Given the description of an element on the screen output the (x, y) to click on. 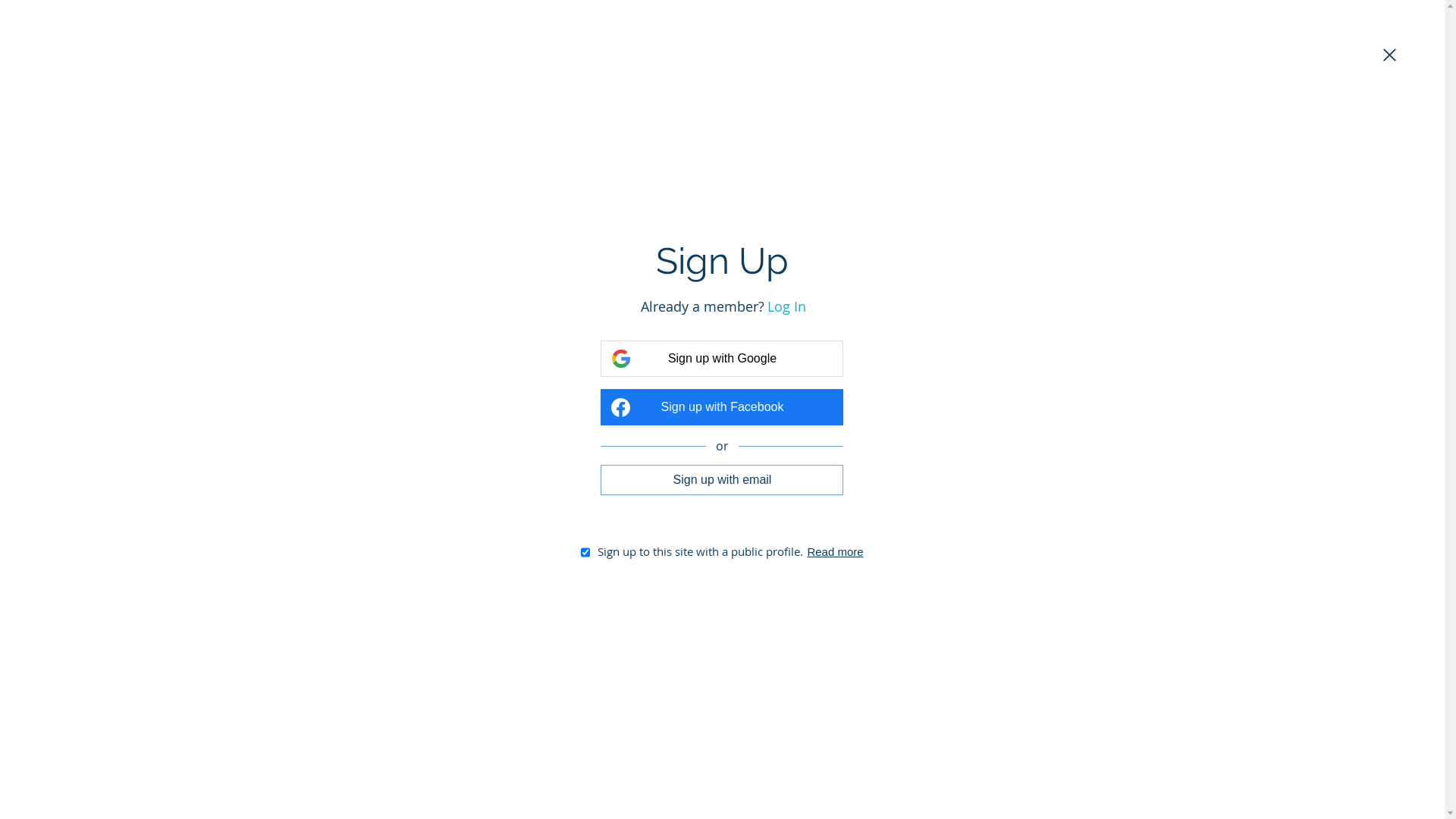
Read more Element type: text (834, 551)
Log In Element type: text (786, 306)
Sign up with Google Element type: text (721, 358)
Sign up with email Element type: text (721, 479)
Sign up with Facebook Element type: text (721, 407)
